Given the description of an element on the screen output the (x, y) to click on. 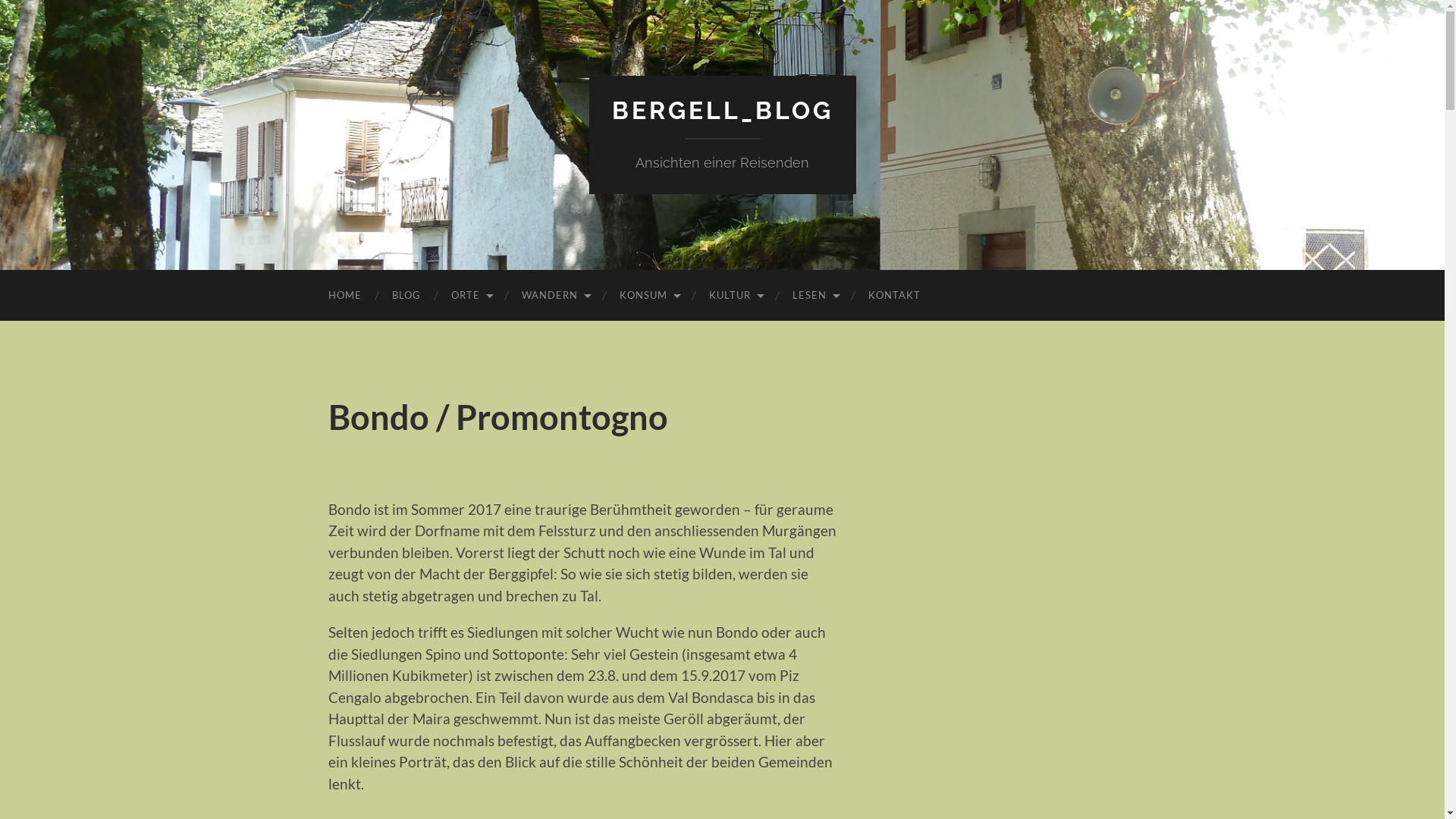
KONSUM Element type: text (648, 294)
BERGELL_BLOG Element type: text (721, 110)
KONTAKT Element type: text (893, 294)
HOME Element type: text (344, 294)
WANDERN Element type: text (555, 294)
ORTE Element type: text (470, 294)
KULTUR Element type: text (734, 294)
LESEN Element type: text (814, 294)
BLOG Element type: text (405, 294)
